Given the description of an element on the screen output the (x, y) to click on. 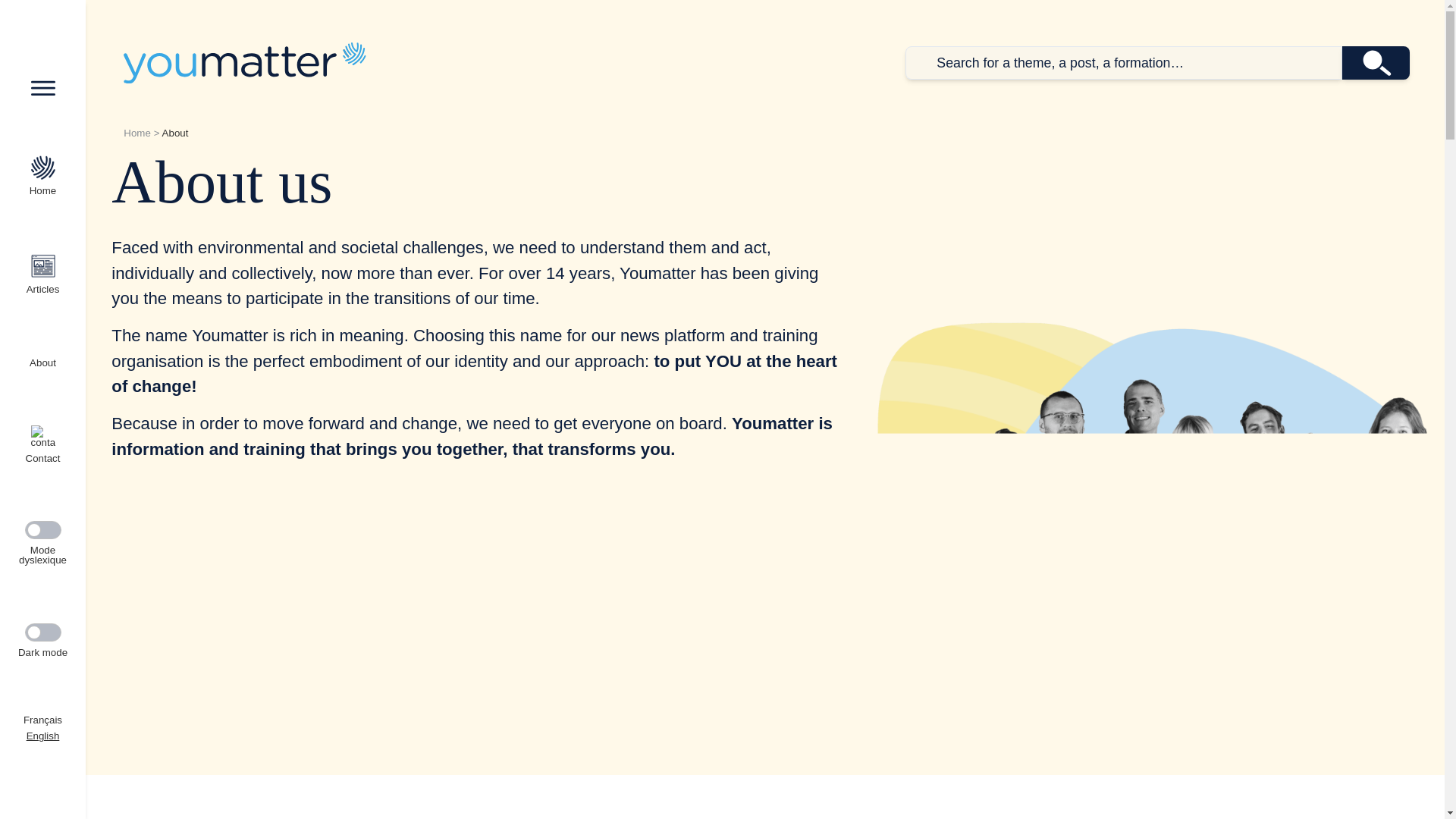
English (42, 736)
on (42, 632)
Home (137, 132)
About (42, 359)
Home (244, 62)
on (42, 529)
Contact (42, 444)
